Given the description of an element on the screen output the (x, y) to click on. 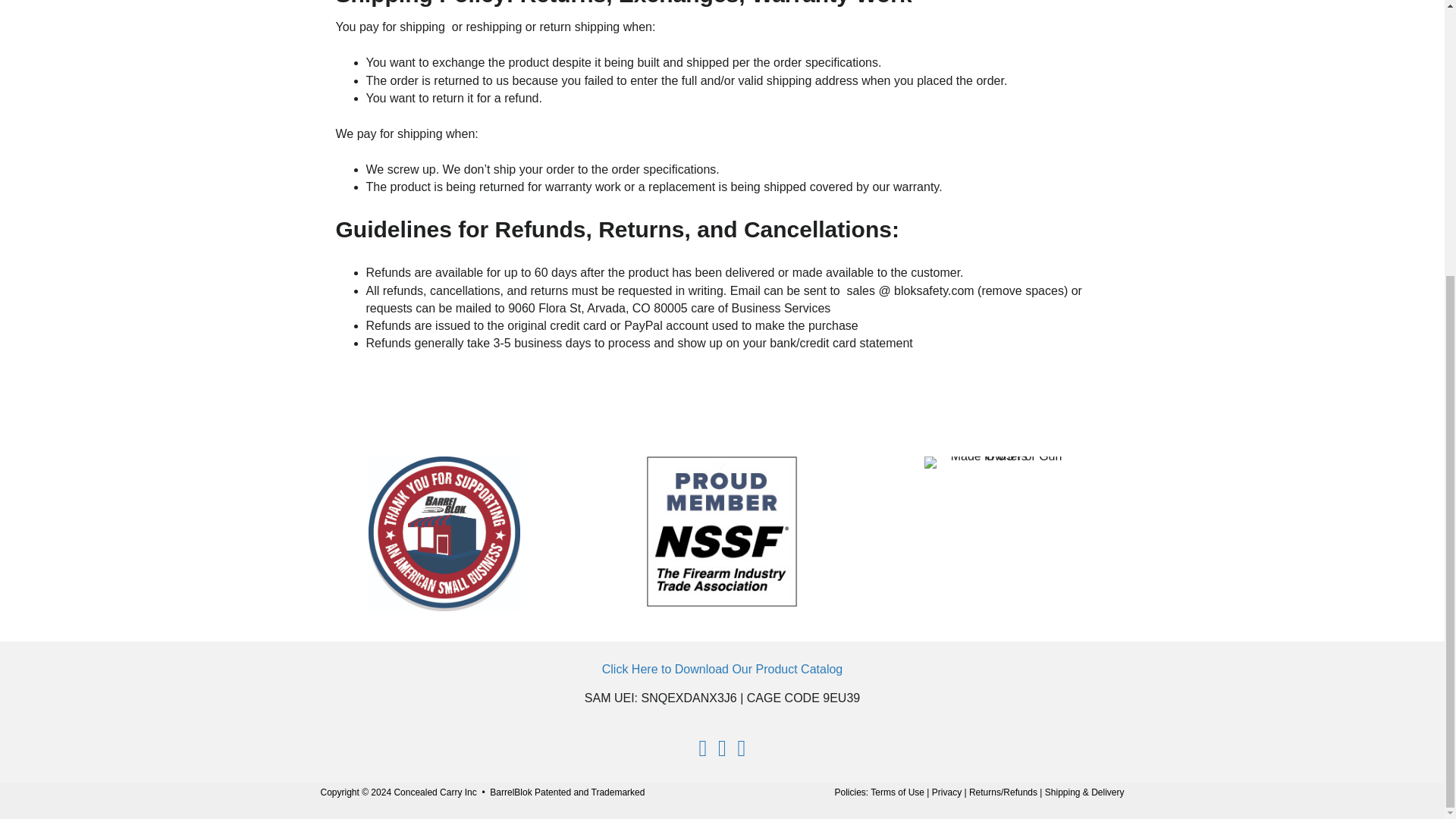
Made in US For Gun Owners (999, 462)
BB American Small Business (443, 533)
Terms of Use (897, 792)
NSSF-Member (721, 531)
Click Here to Download Our Product Catalog (722, 668)
Privacy (945, 792)
